Given the description of an element on the screen output the (x, y) to click on. 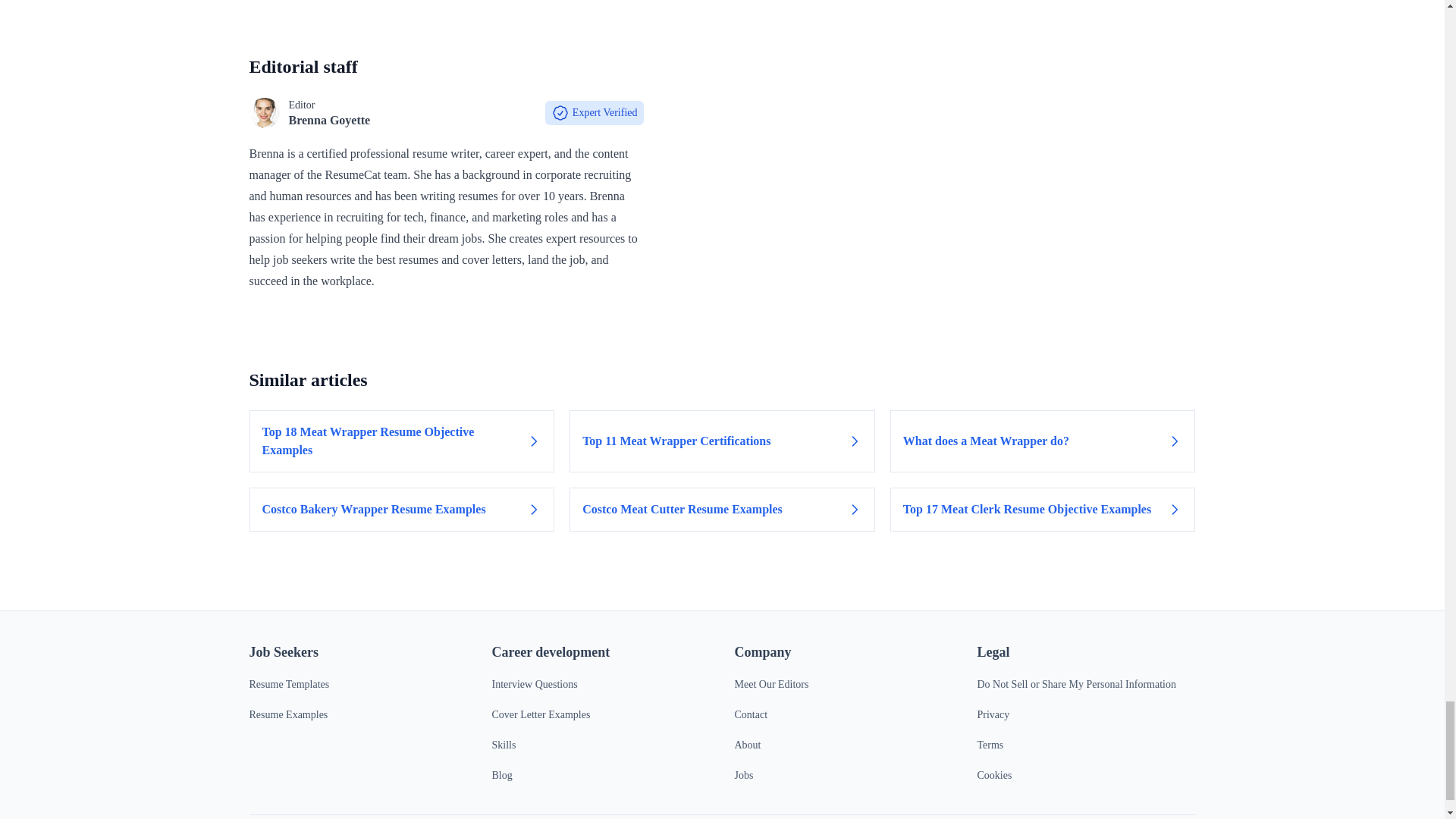
Contact (750, 714)
Do Not Sell or Share My Personal Information (1075, 684)
Top 18 Meat Wrapper Resume Objective Examples (401, 441)
Blog (502, 775)
Jobs (742, 775)
Resume Templates (288, 684)
Cookies (993, 775)
Interview Questions (534, 684)
What does a Meat Wrapper do? (1042, 441)
Top 17 Meat Clerk Resume Objective Examples (1042, 509)
